Given the description of an element on the screen output the (x, y) to click on. 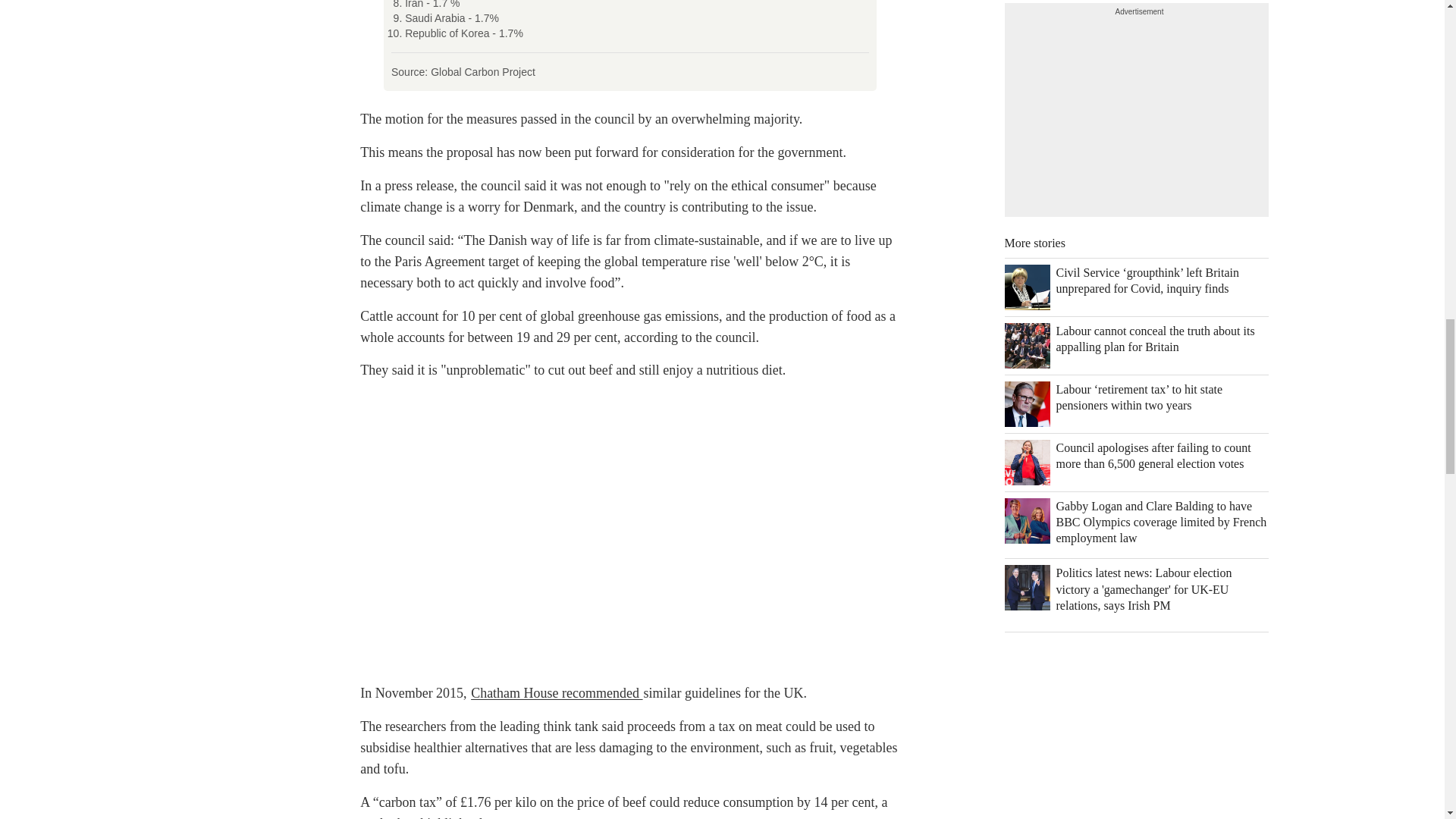
Top 10 carbon emitters (629, 45)
